Given the description of an element on the screen output the (x, y) to click on. 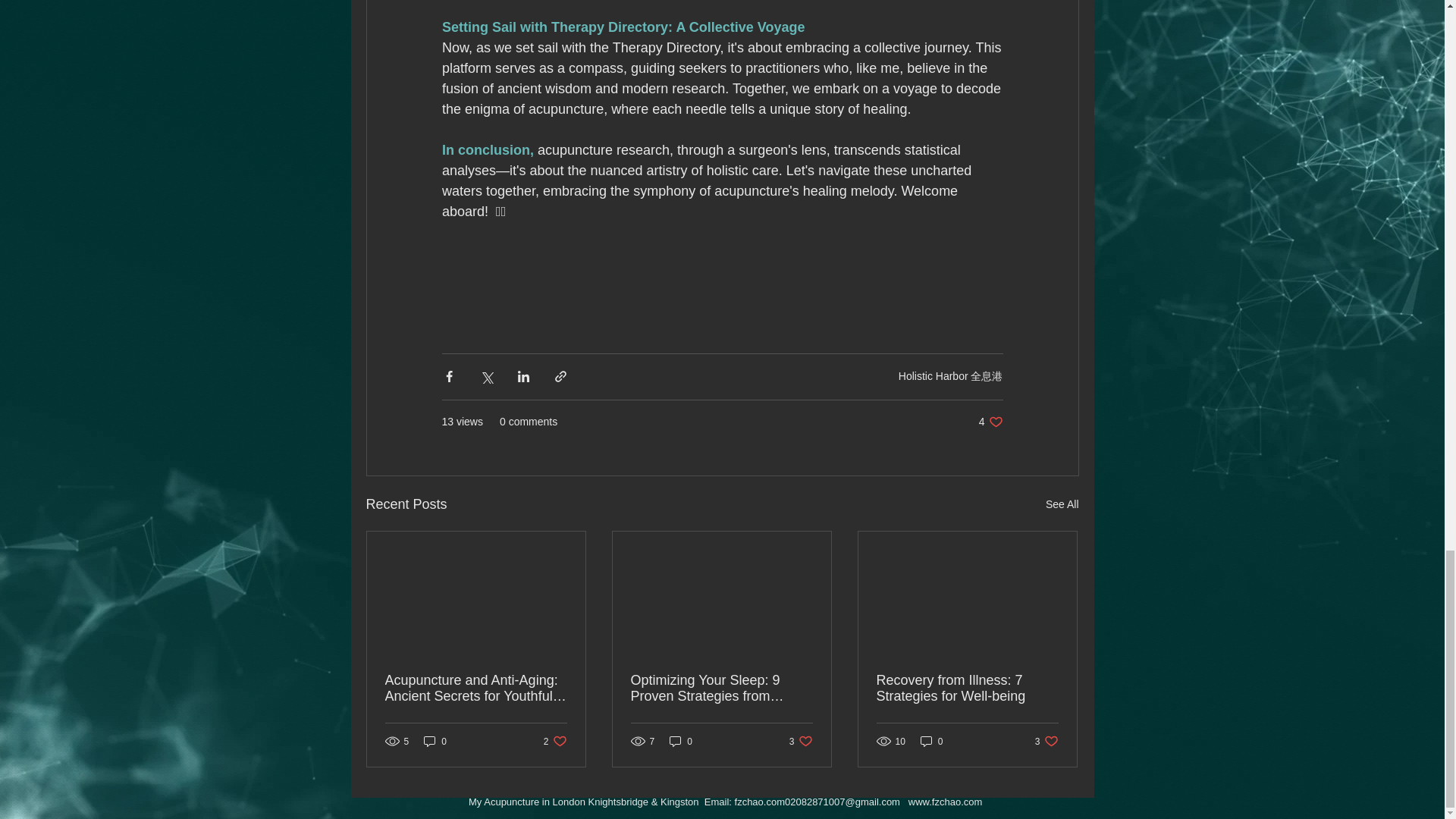
Recovery from Illness: 7 Strategies for Well-being (800, 740)
0 (967, 688)
0 (435, 740)
0 (990, 421)
See All (931, 740)
